Given the description of an element on the screen output the (x, y) to click on. 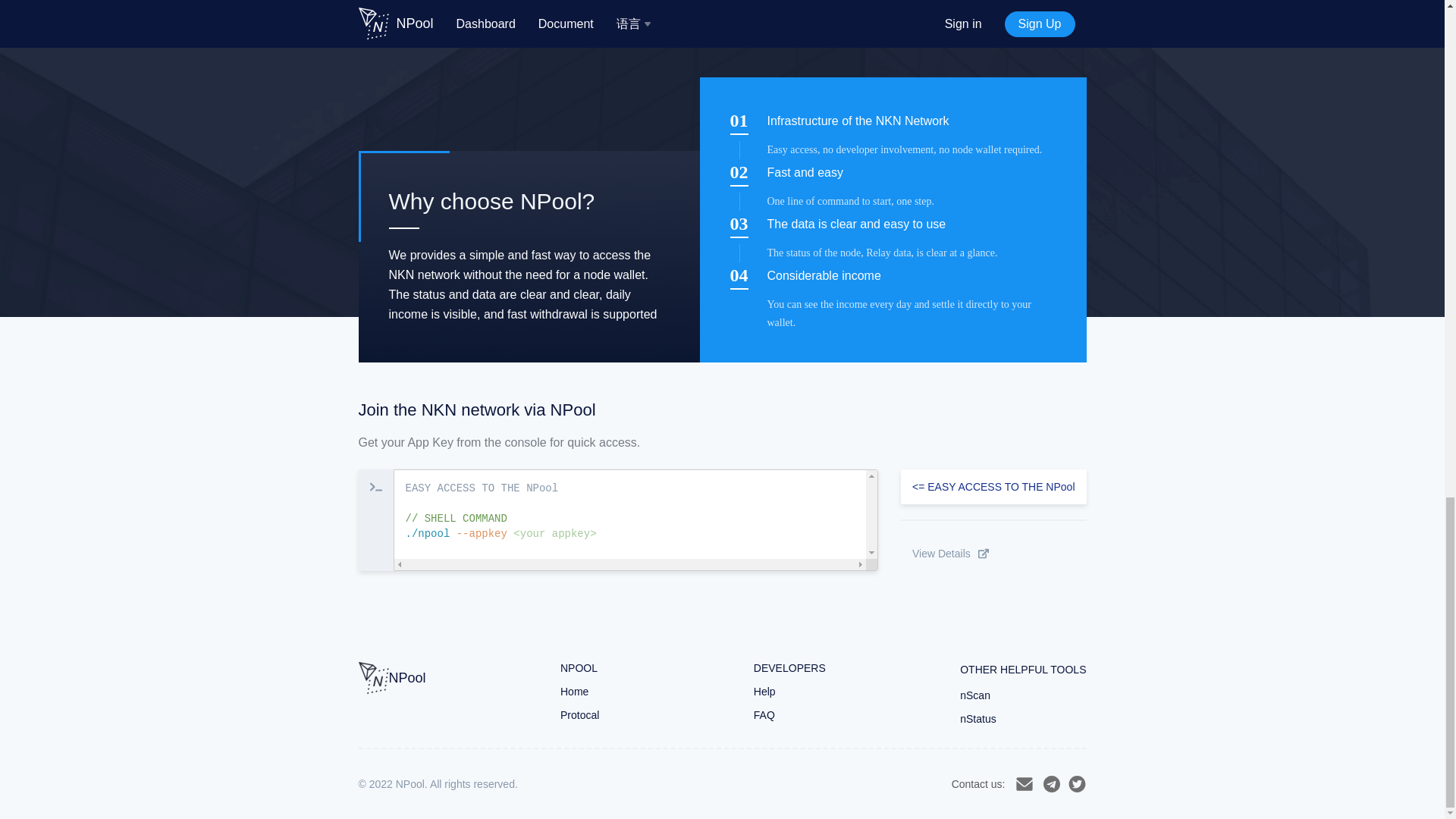
Home (589, 691)
nScan (1022, 695)
NPool (391, 677)
View Details (993, 553)
nStatus (1022, 718)
Help (789, 691)
FAQ (789, 715)
Protocal (589, 715)
